Given the description of an element on the screen output the (x, y) to click on. 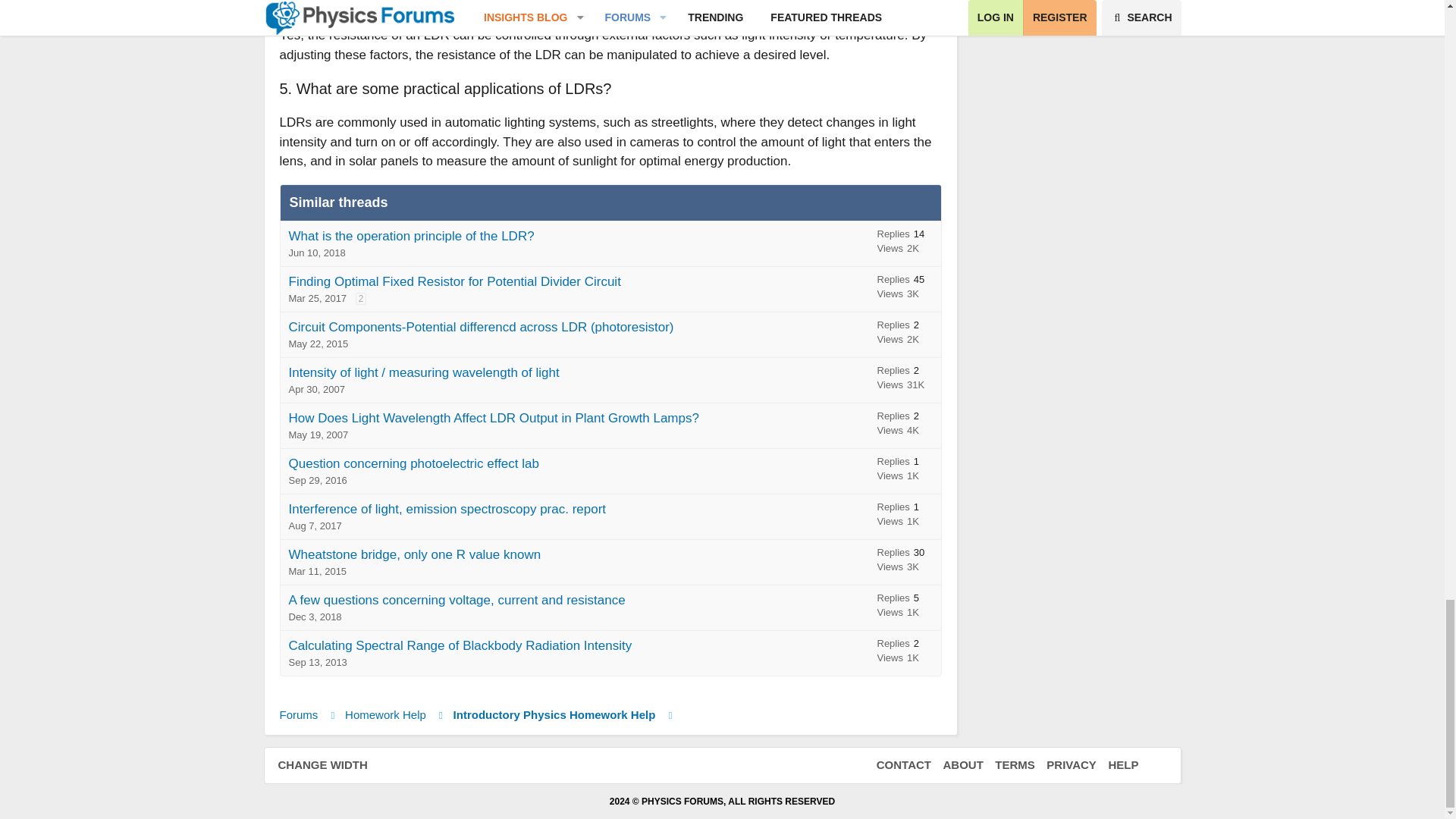
Apr 30, 2007 at 10:18 AM (315, 389)
First message reaction score: 0 (904, 243)
Mar 25, 2017 at 3:23 PM (317, 297)
May 22, 2015 at 11:54 AM (317, 343)
First message reaction score: 0 (904, 334)
Jun 10, 2018 at 6:48 PM (316, 252)
First message reaction score: 0 (904, 289)
